Given the description of an element on the screen output the (x, y) to click on. 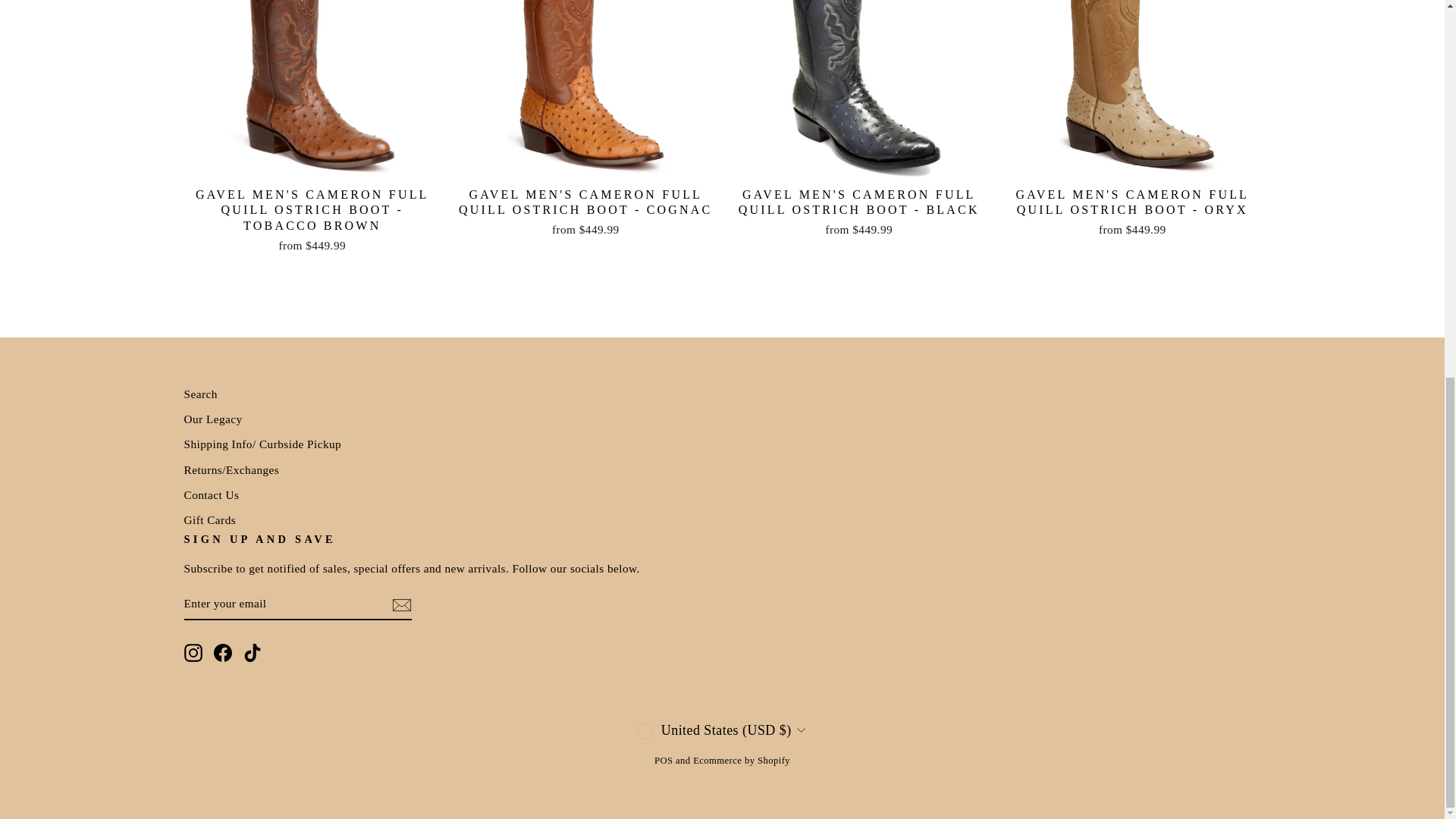
Gavel Western Wear on Instagram (192, 651)
icon-email (400, 605)
Gavel Western Wear on Facebook (222, 651)
instagram (192, 652)
Gavel Western Wear on TikTok (251, 651)
